Given the description of an element on the screen output the (x, y) to click on. 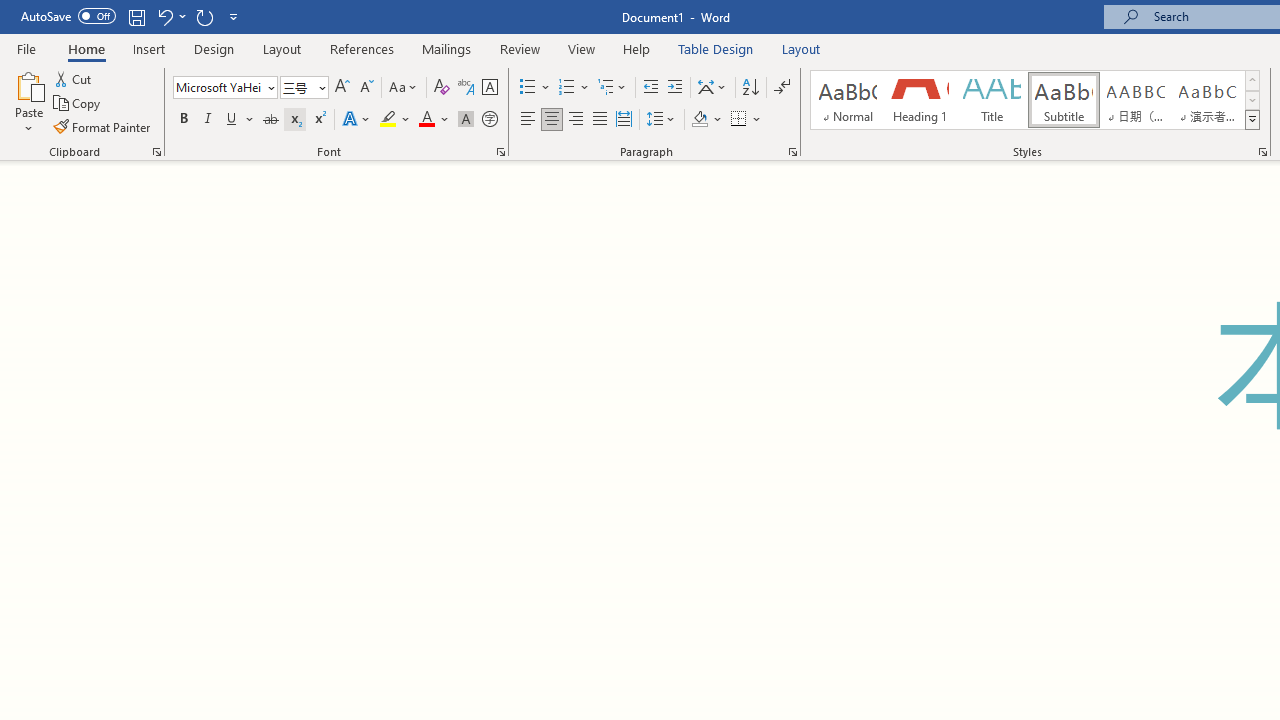
Font Color Red (426, 119)
Undo Subscript (164, 15)
